Given the description of an element on the screen output the (x, y) to click on. 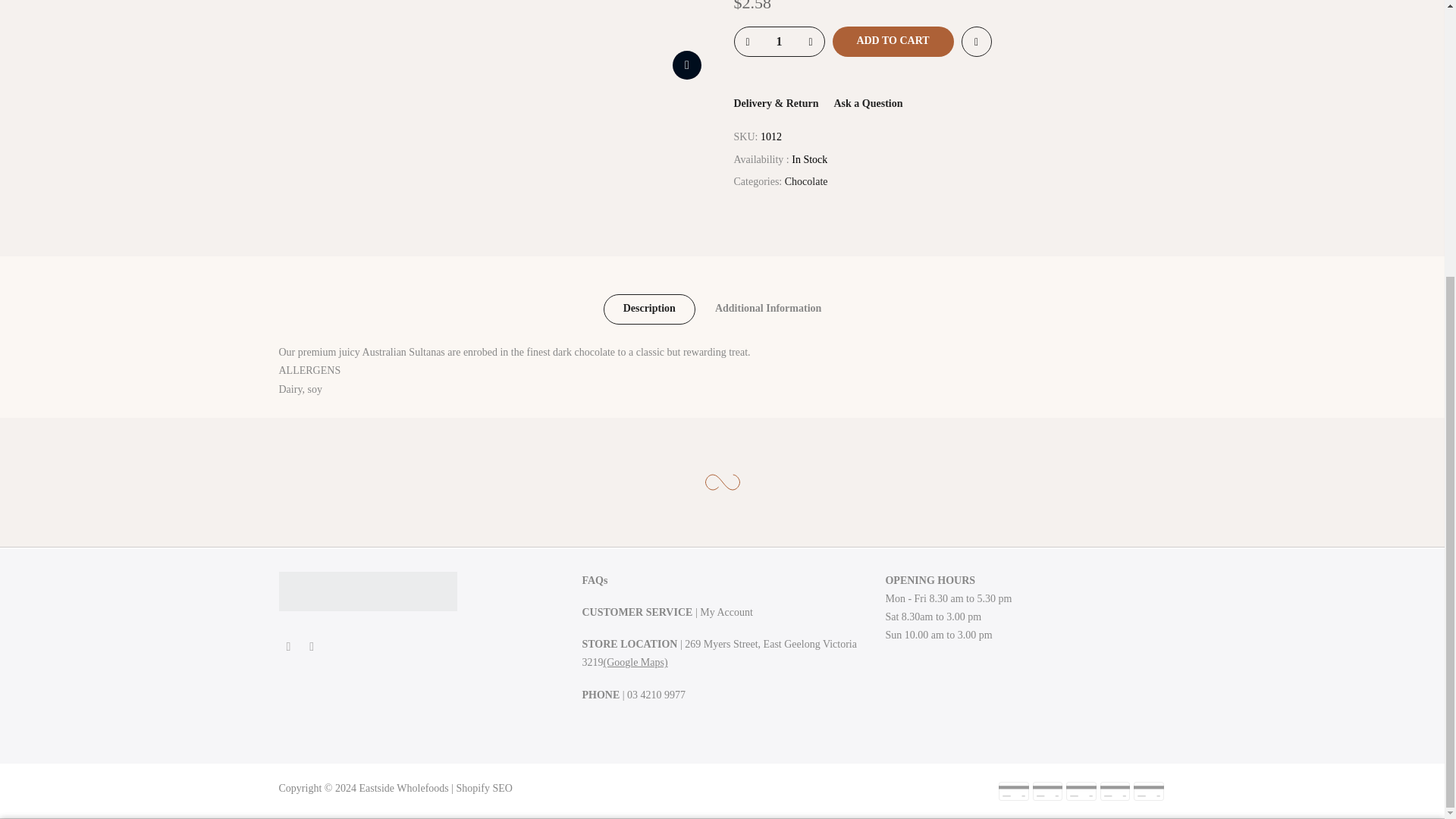
ADD TO CART (892, 41)
03 4210 9977 (656, 695)
Description (649, 309)
Shopify SEO (484, 787)
FAQs (593, 580)
Chocolate (806, 181)
Ask a Question (867, 102)
Additional Information (768, 309)
1 (778, 41)
1 (1001, 444)
